Given the description of an element on the screen output the (x, y) to click on. 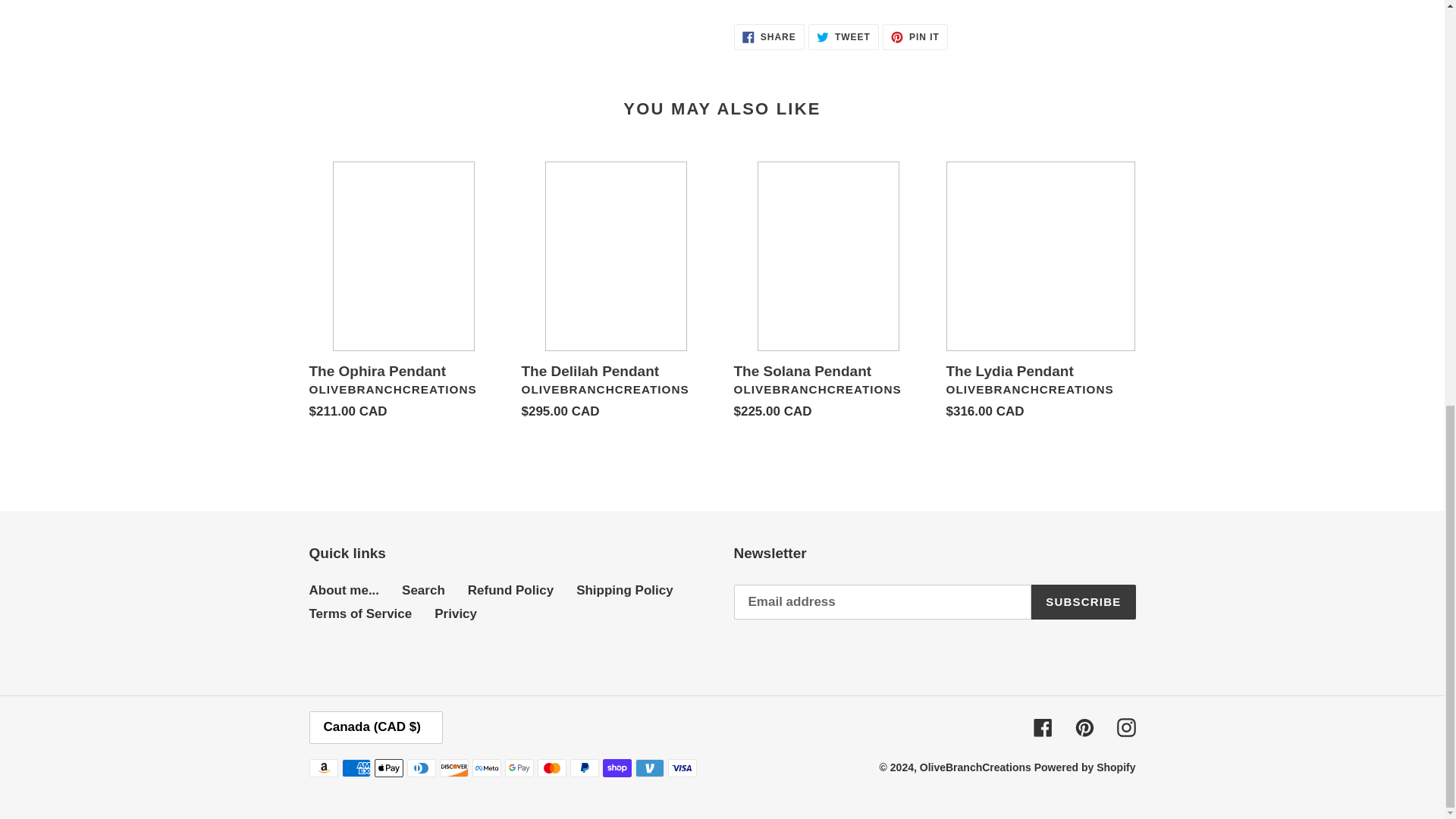
About me... (344, 590)
Shipping Policy (624, 590)
Refund Policy (843, 36)
Search (510, 590)
SUBSCRIBE (423, 590)
Terms of Service (1082, 601)
Privicy (769, 36)
